Given the description of an element on the screen output the (x, y) to click on. 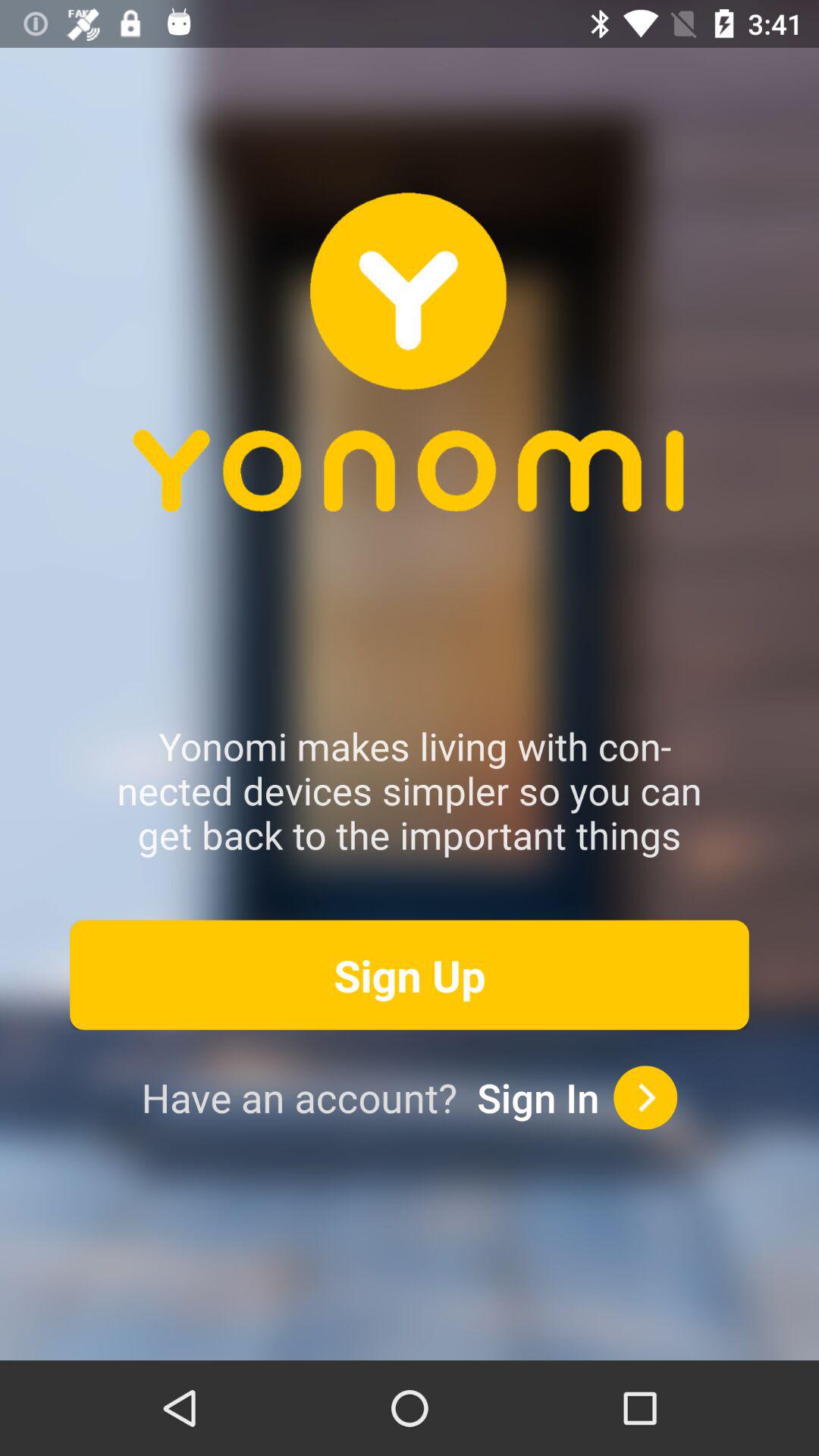
sign in (645, 1097)
